Given the description of an element on the screen output the (x, y) to click on. 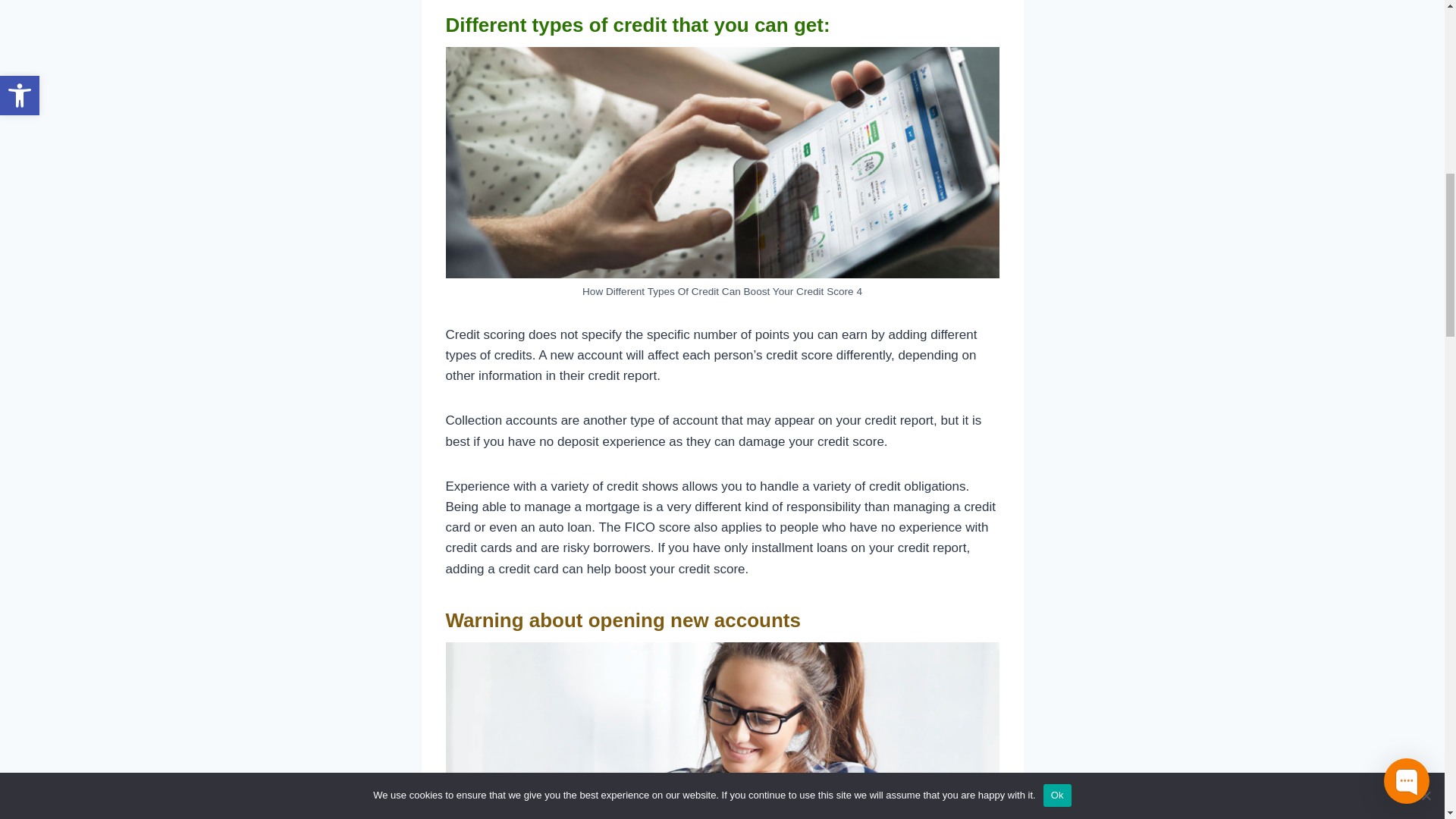
How Different Types Of Credit Can Boost Your Credit Score 2 (721, 162)
How Different Types Of Credit Can Boost Your Credit Score 3 (721, 730)
